Given the description of an element on the screen output the (x, y) to click on. 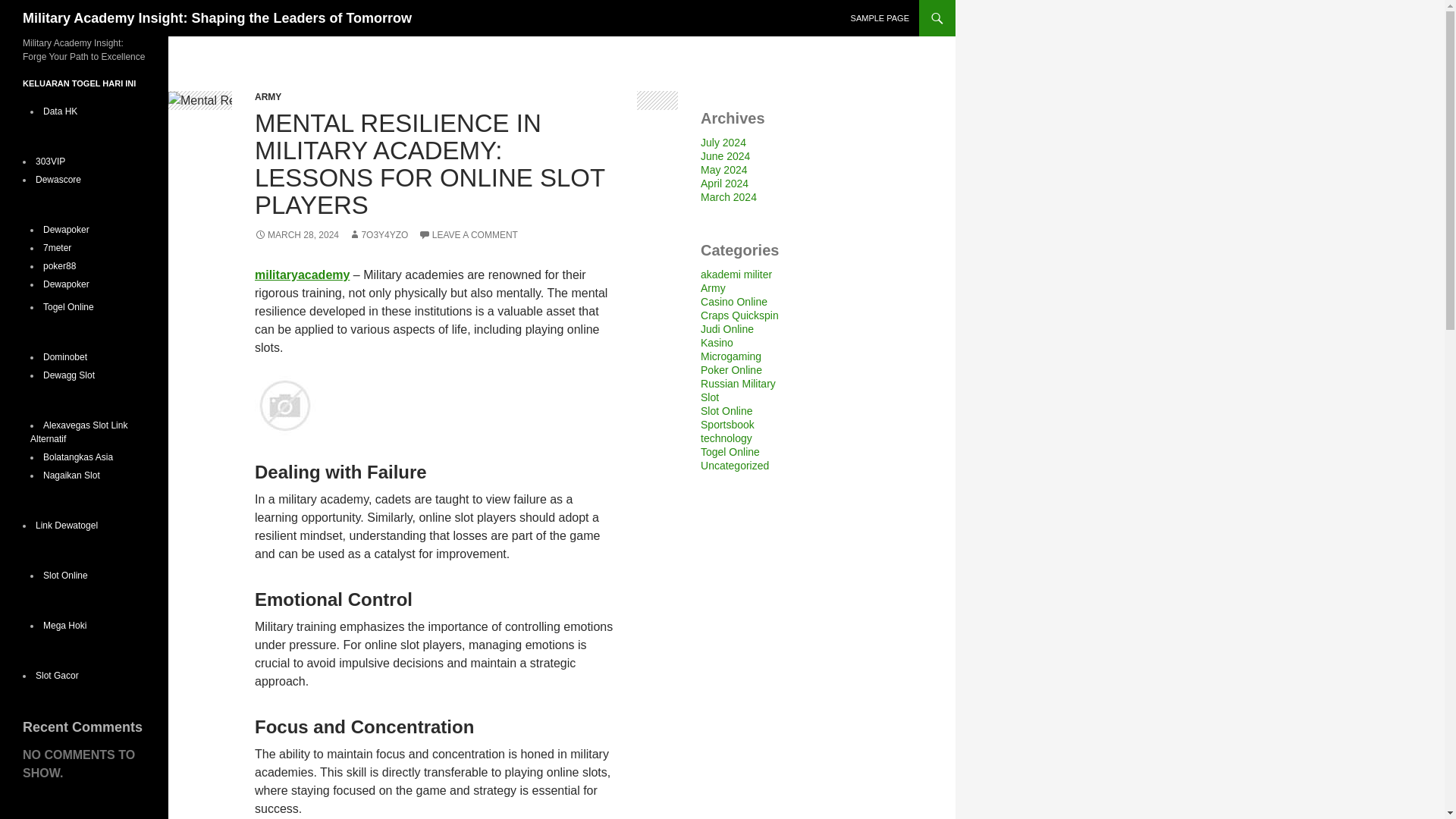
ARMY (267, 96)
Craps Quickspin (739, 315)
Sportsbook (727, 424)
Russian Military (738, 383)
303VIP (49, 161)
June 2024 (724, 155)
Kasino (716, 342)
May 2024 (723, 169)
MARCH 28, 2024 (296, 235)
Judi Online (727, 328)
